Given the description of an element on the screen output the (x, y) to click on. 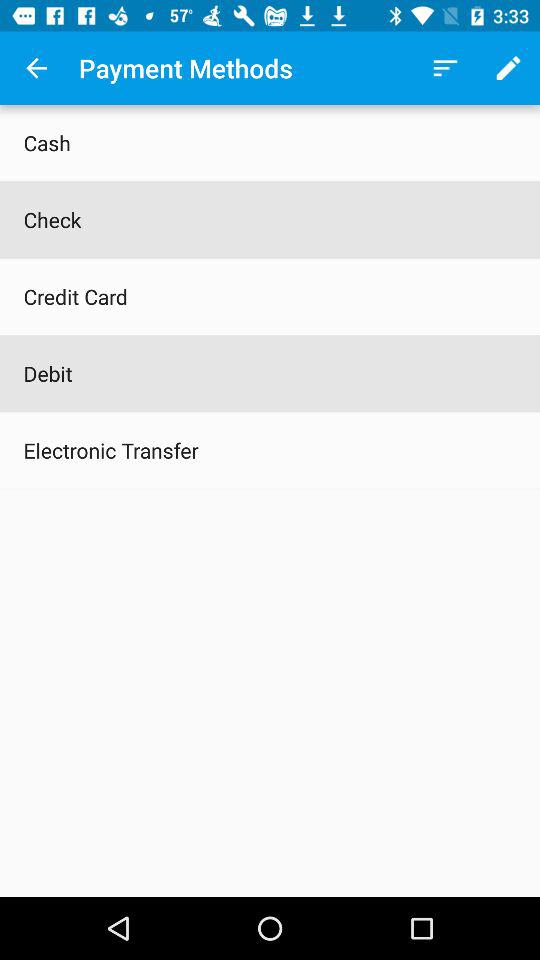
turn off the app to the right of payment methods (444, 67)
